Given the description of an element on the screen output the (x, y) to click on. 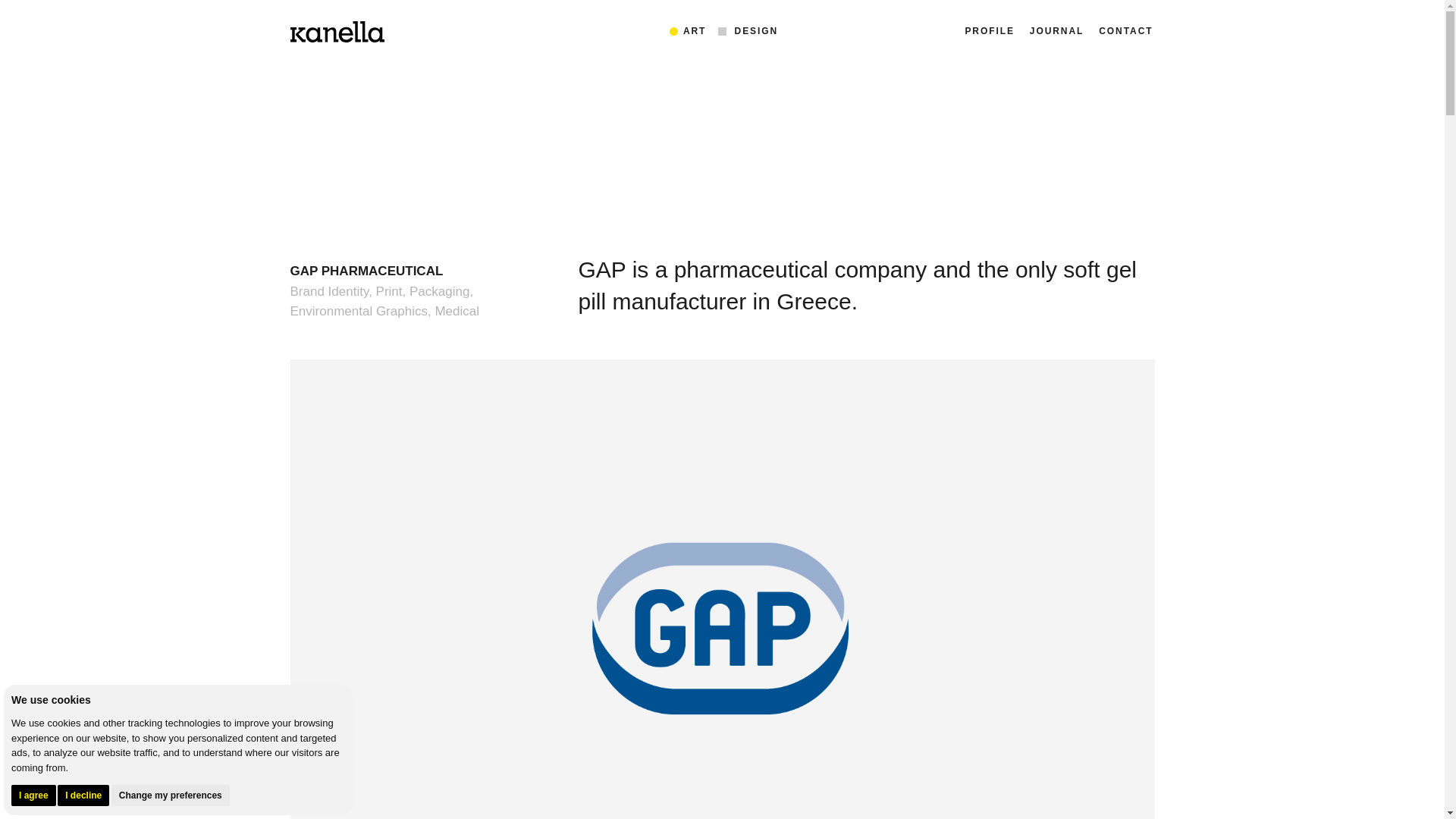
I decline (83, 794)
PROFILE (988, 33)
I agree (33, 794)
DESIGN (756, 30)
CONTACT (1125, 33)
Change my preferences (171, 794)
JOURNAL (1055, 33)
ART (694, 30)
